Given the description of an element on the screen output the (x, y) to click on. 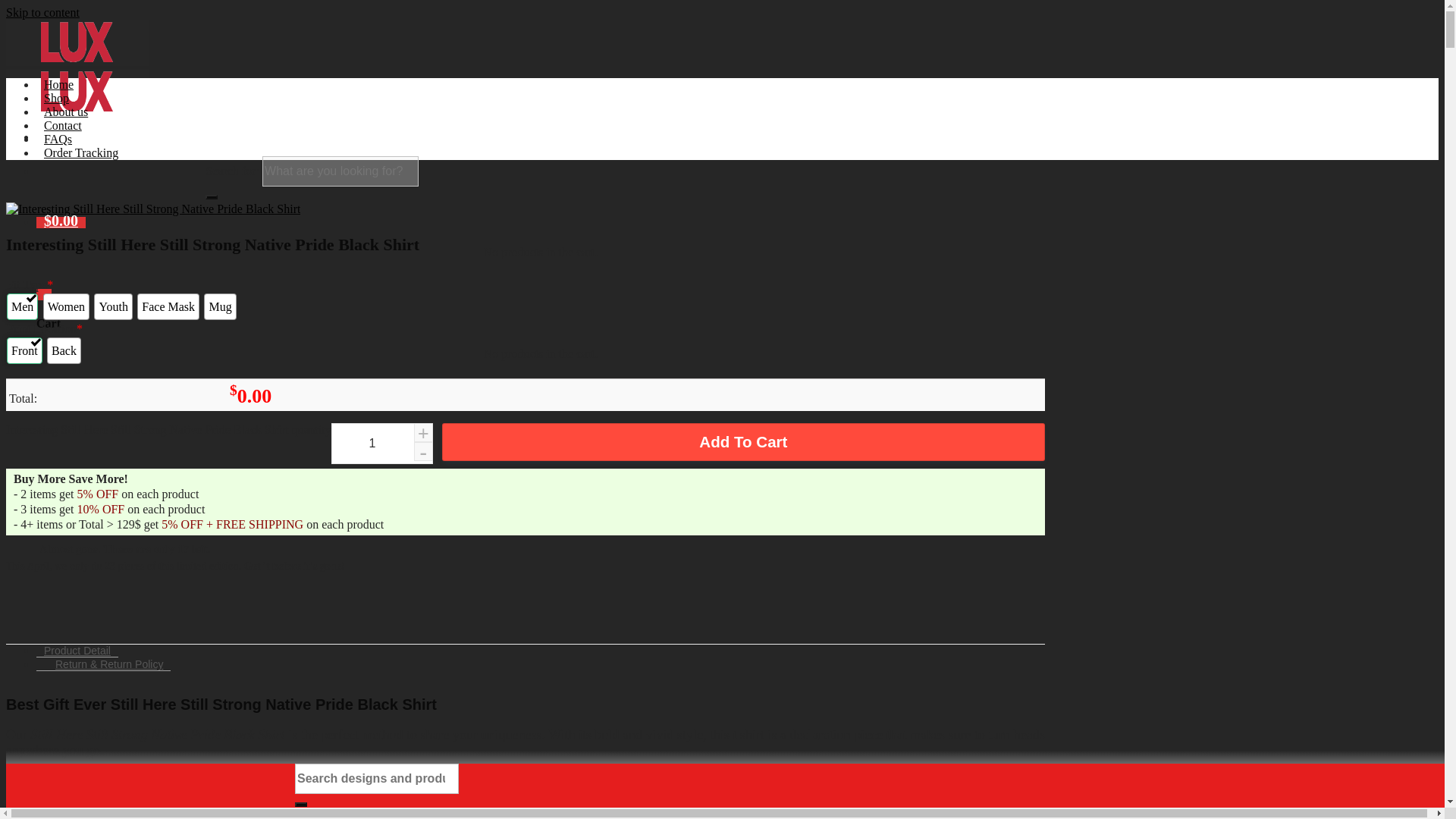
Cart (43, 294)
1 (381, 443)
Face Mask (167, 306)
Search (210, 196)
Shop (56, 97)
Men (22, 306)
Youth (113, 306)
Mug (219, 306)
Cart (60, 222)
